Given the description of an element on the screen output the (x, y) to click on. 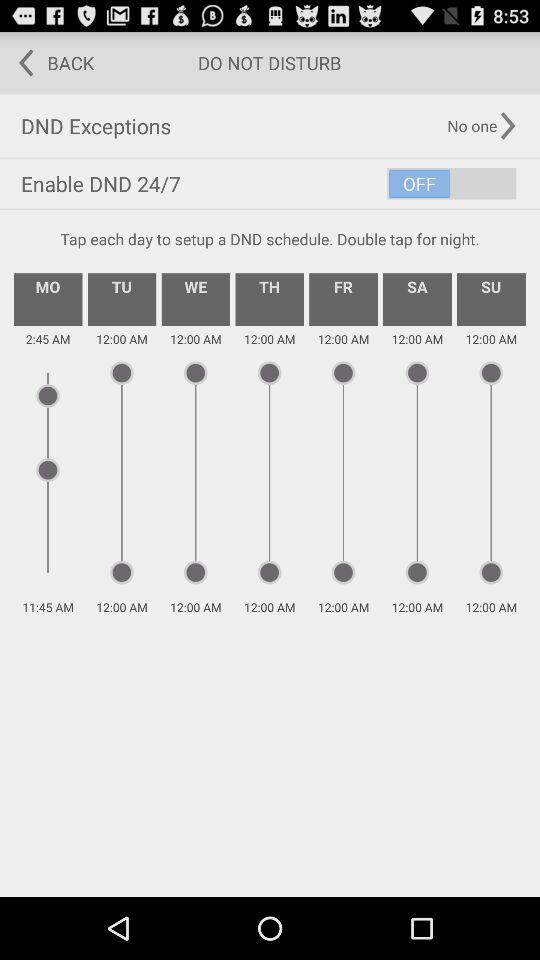
tap we icon (195, 299)
